Given the description of an element on the screen output the (x, y) to click on. 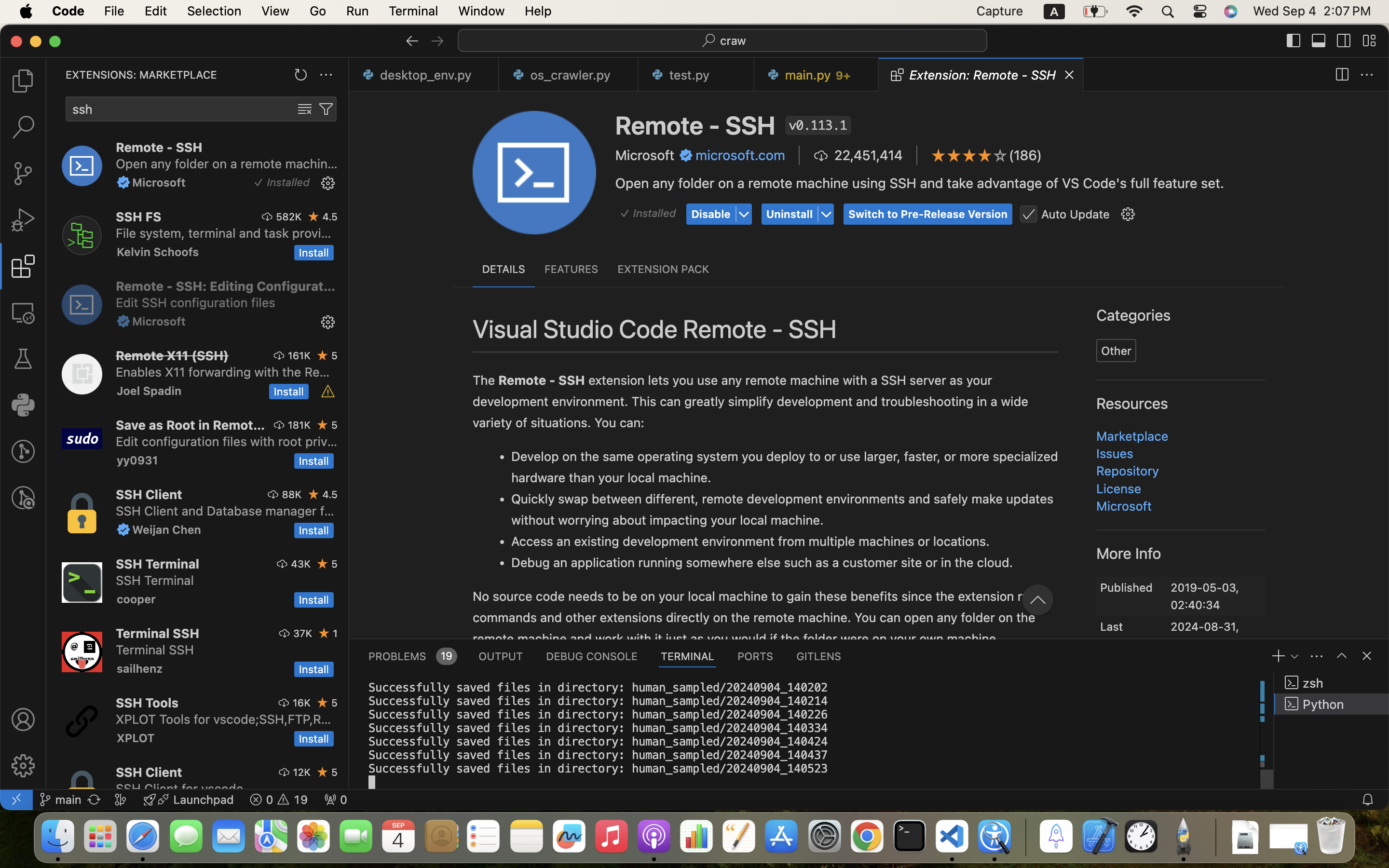
Kelvin Schoofs Element type: AXStaticText (157, 251)
Last released Element type: AXStaticText (1122, 628)
XPLOT Tools for vscode;SSH,FTP,Remote Element type: AXStaticText (223, 718)
Joel Spadin Element type: AXStaticText (149, 390)
Python  Element type: AXGroup (1331, 703)
